Given the description of an element on the screen output the (x, y) to click on. 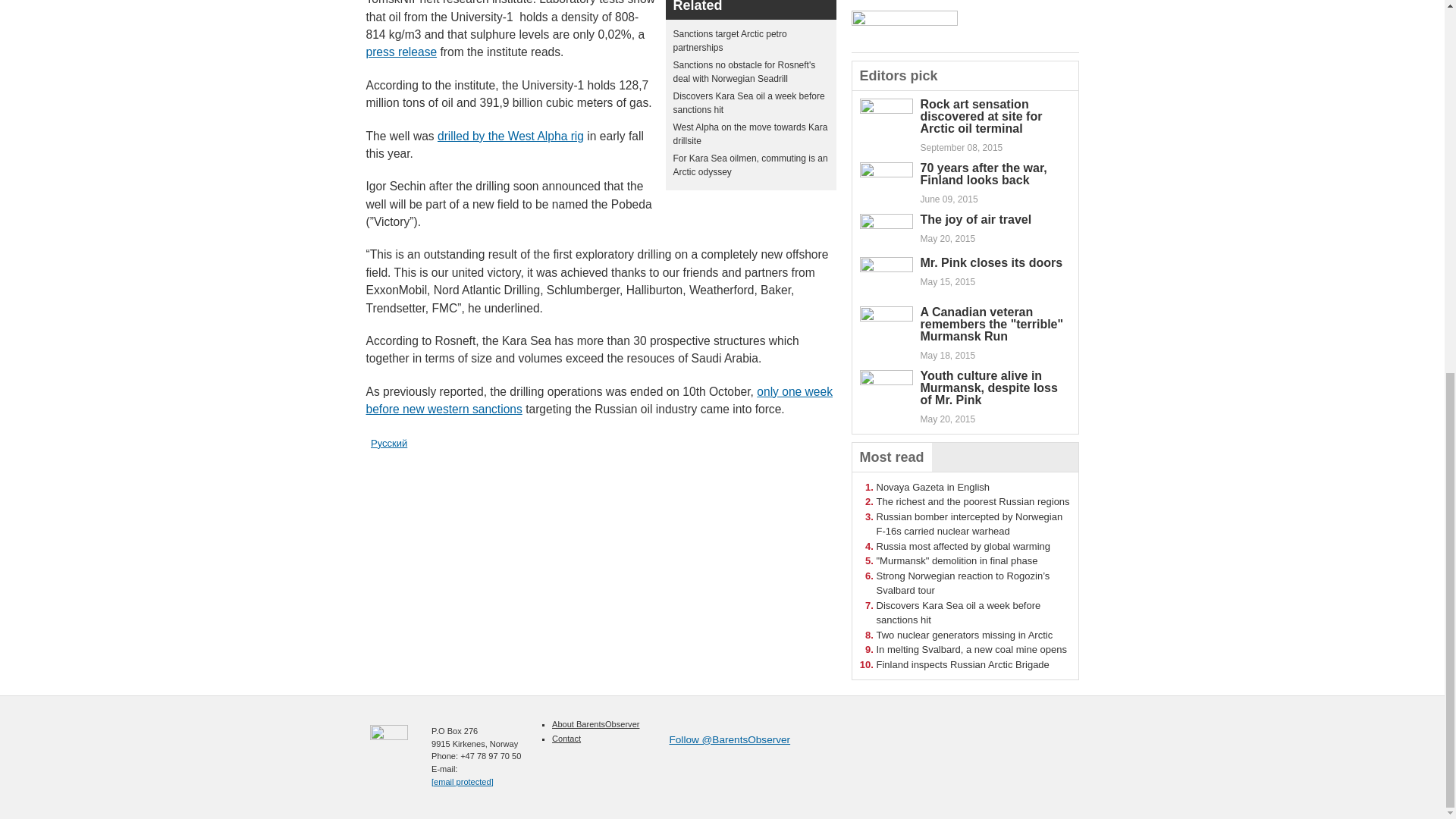
For Kara Sea oilmen, commuting is an Arctic odyssey (750, 165)
Sanctions target Arctic petro partnerships (729, 40)
only one week before new western sanctions (598, 399)
press release (400, 51)
Discovers Kara Sea oil a week before sanctions hit (748, 102)
West Alpha on the move towards Kara drillsite (750, 134)
drilled by the West Alpha rig (510, 135)
